Given the description of an element on the screen output the (x, y) to click on. 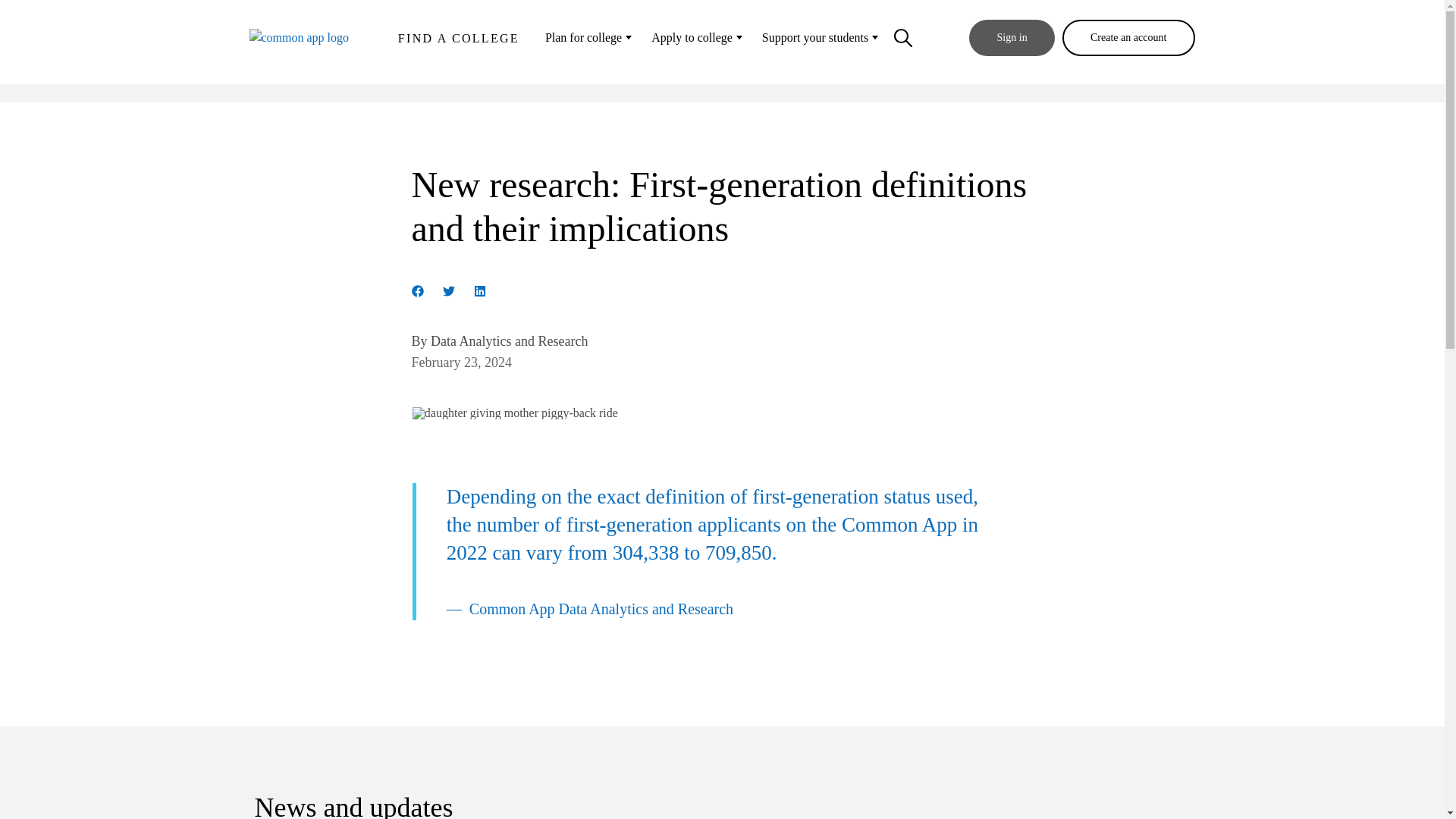
Twitter icon (448, 291)
Linkedin icon (478, 288)
Facebook icon (416, 288)
Create an account (1128, 37)
Linkedin icon (478, 291)
Sign in (1011, 37)
Facebook icon (416, 291)
Plan for college (586, 37)
Apply to college (694, 37)
Twitter icon (448, 288)
FIND A COLLEGE (458, 42)
Support your students (818, 37)
